Given the description of an element on the screen output the (x, y) to click on. 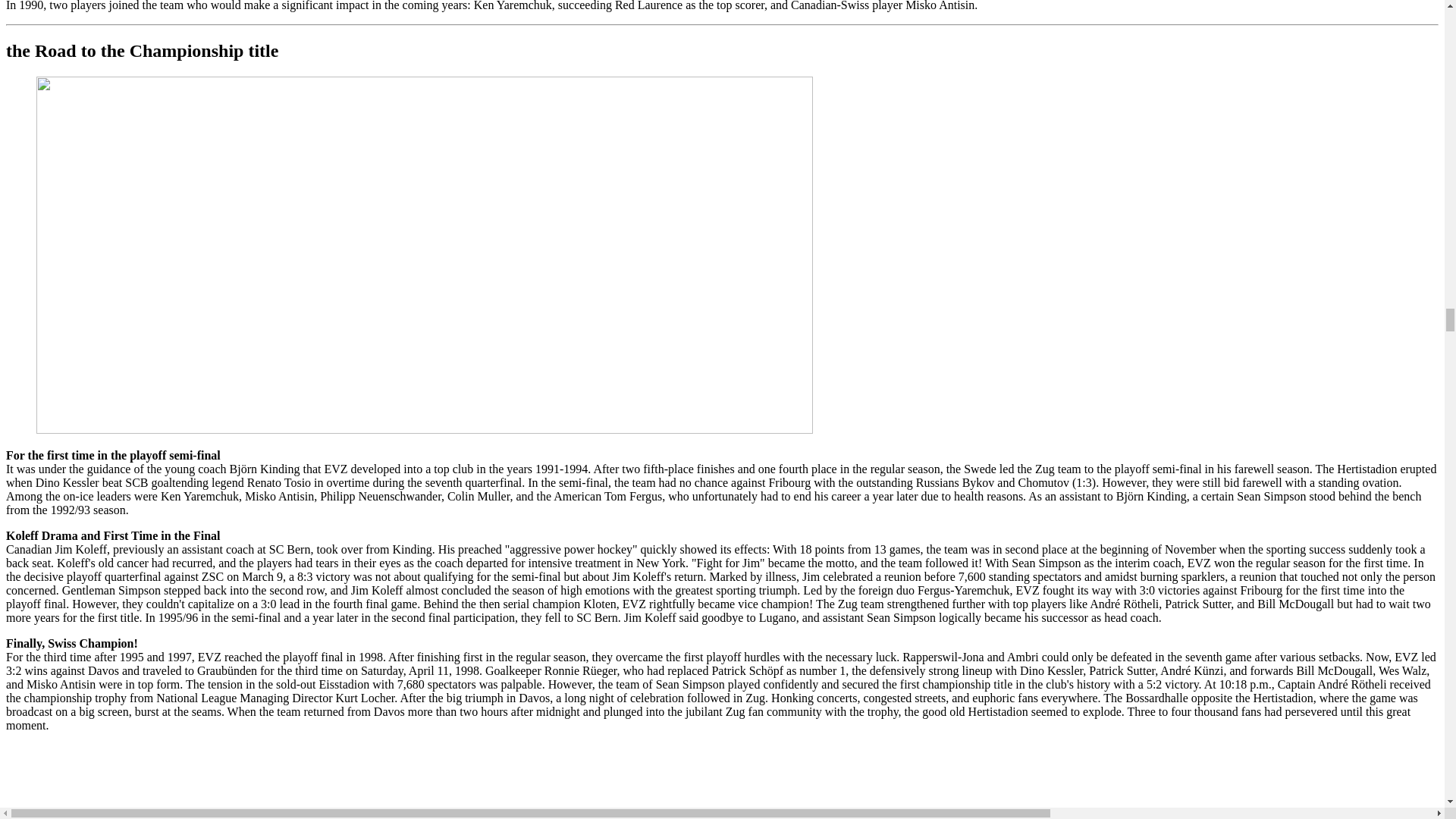
EVZ-Clip Meister 1998 new version (225, 781)
